Given the description of an element on the screen output the (x, y) to click on. 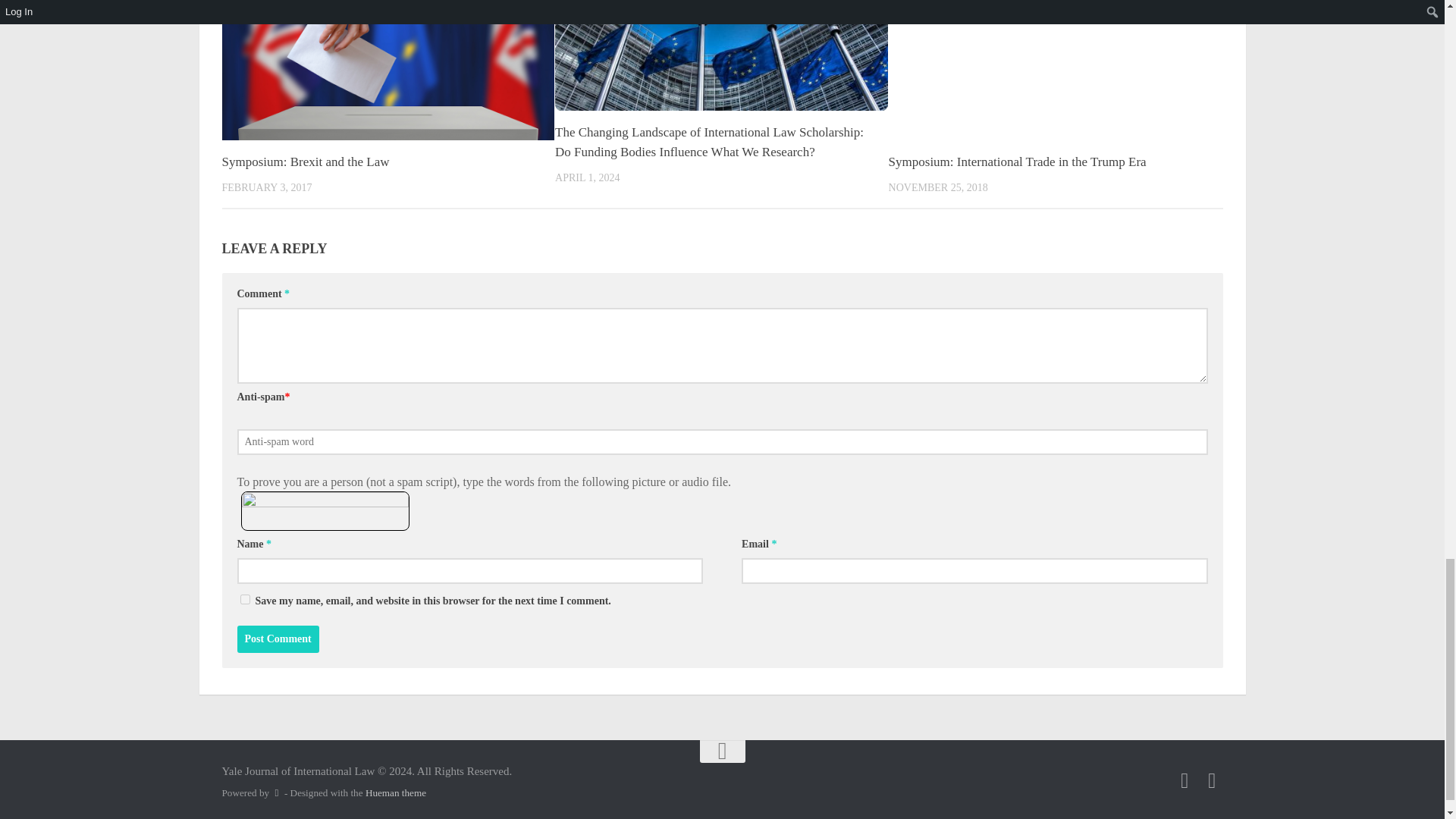
Follow us on Linkedin (1212, 780)
Powered by WordPress (275, 792)
Post Comment (276, 638)
Hueman theme (395, 792)
yes (244, 599)
Follow us on Twitter (1184, 780)
